Given the description of an element on the screen output the (x, y) to click on. 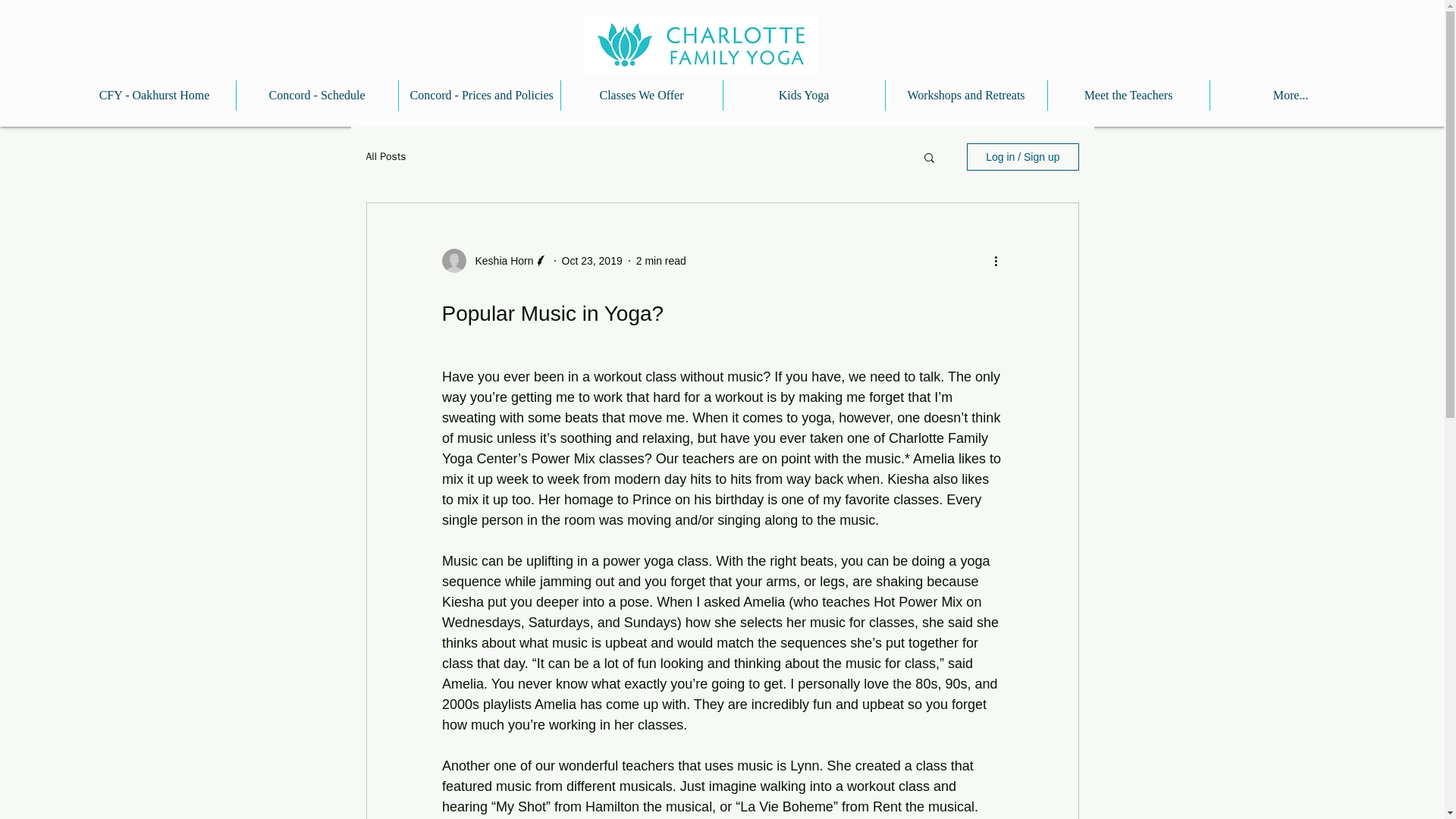
2 min read (660, 260)
Keshia Horn (498, 261)
Oct 23, 2019 (592, 260)
Concord - Prices and Policies (479, 95)
Concord - Schedule (316, 95)
Workshops and Retreats (965, 95)
Kids Yoga (804, 95)
Classes We Offer (641, 95)
CFY - Oakhurst Home (153, 95)
All Posts (385, 156)
